Given the description of an element on the screen output the (x, y) to click on. 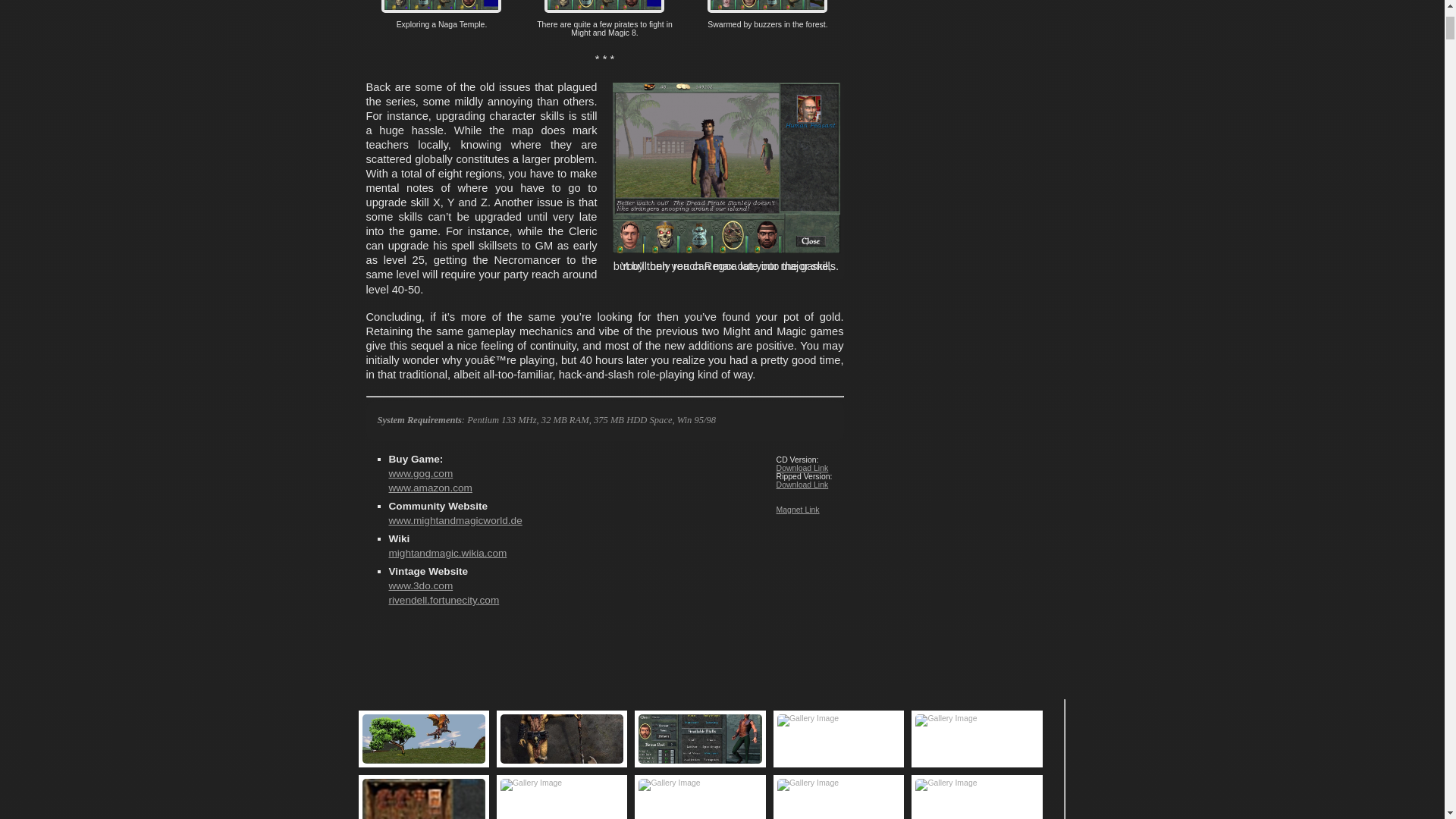
Download Link (802, 468)
Gallery Image (561, 738)
Download Link (802, 484)
Gallery Image (976, 798)
Gallery Image (423, 738)
www.mightandmagicworld.de (454, 520)
www.amazon.com (429, 487)
Gallery Image (700, 738)
Magnet Link (797, 510)
rivendell.fortunecity.com (443, 600)
Gallery Image (700, 798)
www.gog.com (420, 473)
Gallery Image (838, 738)
Gallery Image (423, 798)
Gallery Image (976, 738)
